Given the description of an element on the screen output the (x, y) to click on. 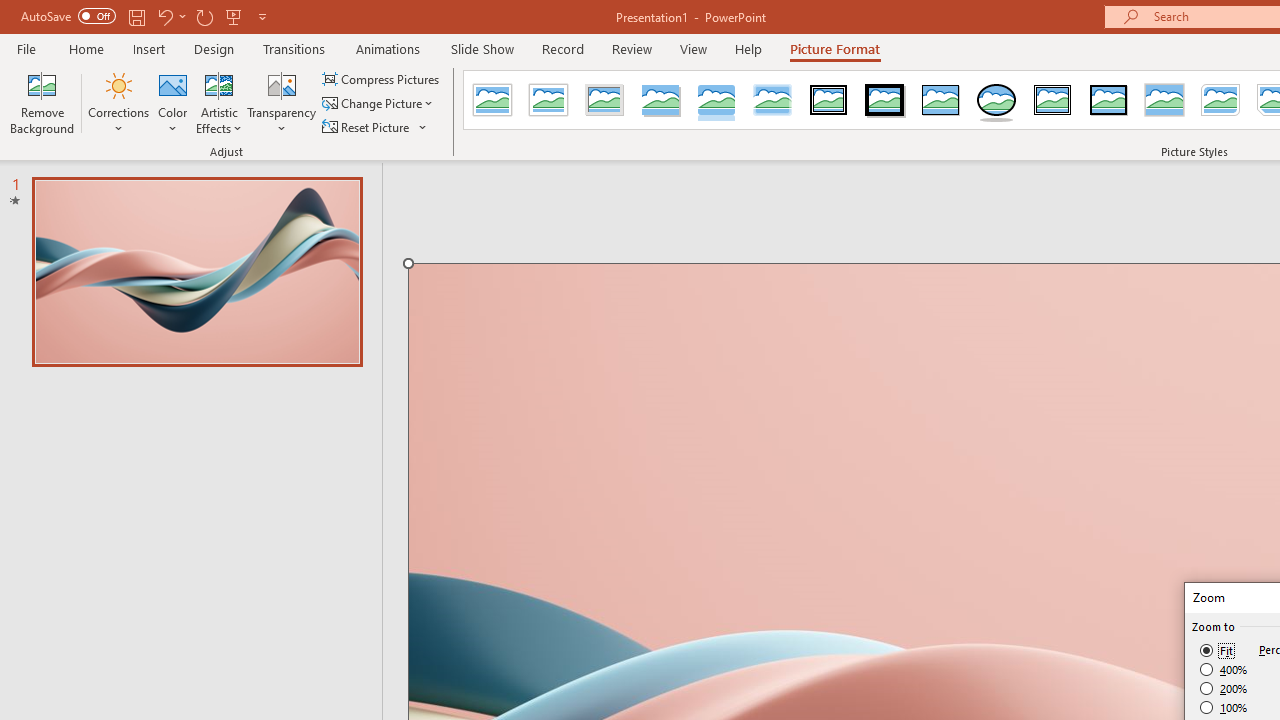
Reflected Rounded Rectangle (716, 100)
Compress Pictures... (381, 78)
Simple Frame, White (492, 100)
Beveled Oval, Black (996, 100)
